Given the description of an element on the screen output the (x, y) to click on. 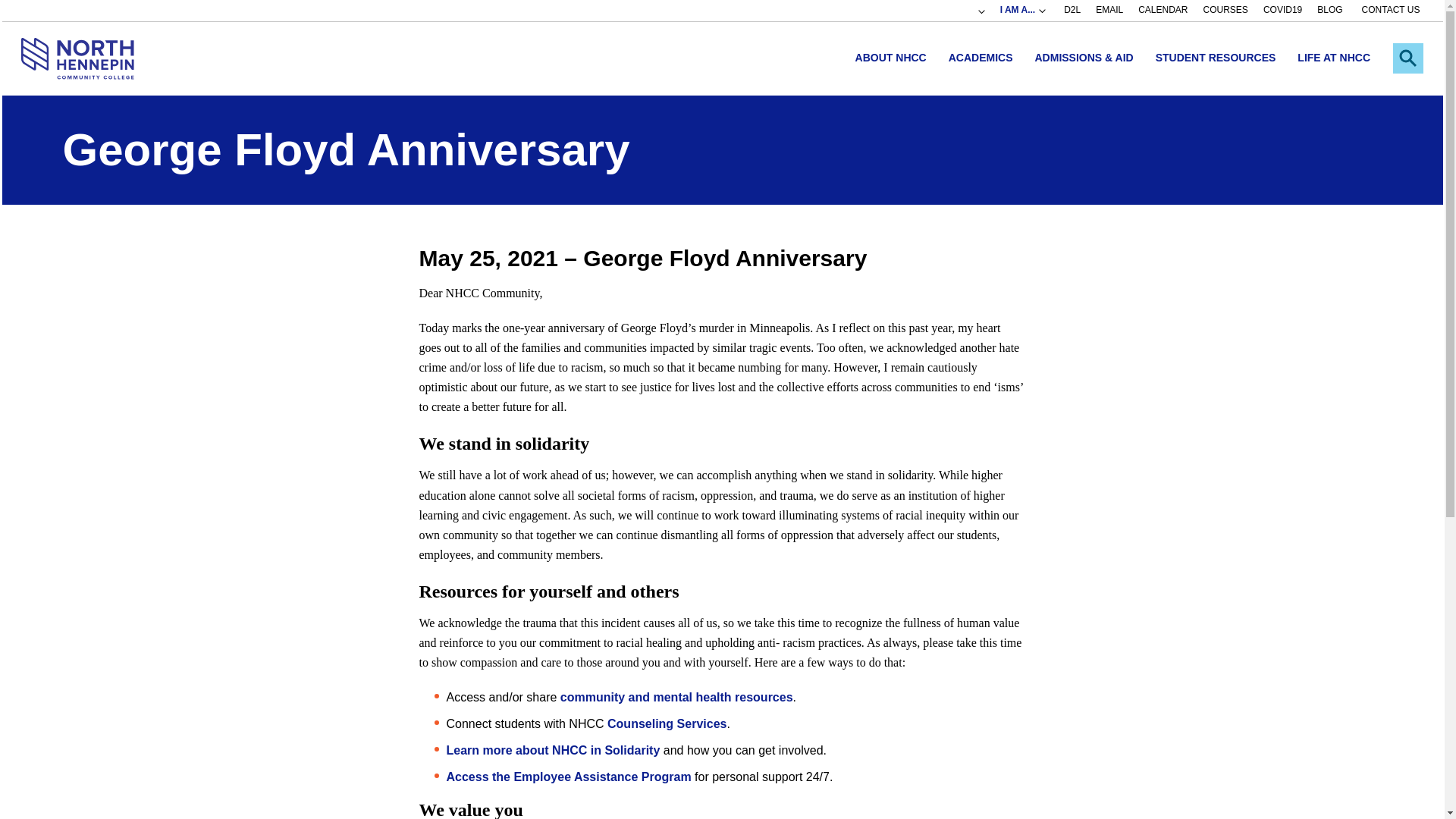
COURSES (1225, 10)
ACADEMICS (980, 58)
CALENDAR (1163, 10)
ABOUT NHCC (890, 58)
I AM A... (1023, 10)
EMAIL (1109, 10)
CONTACT US (1391, 10)
BLOG (1329, 10)
COVID19 (1282, 10)
